Given the description of an element on the screen output the (x, y) to click on. 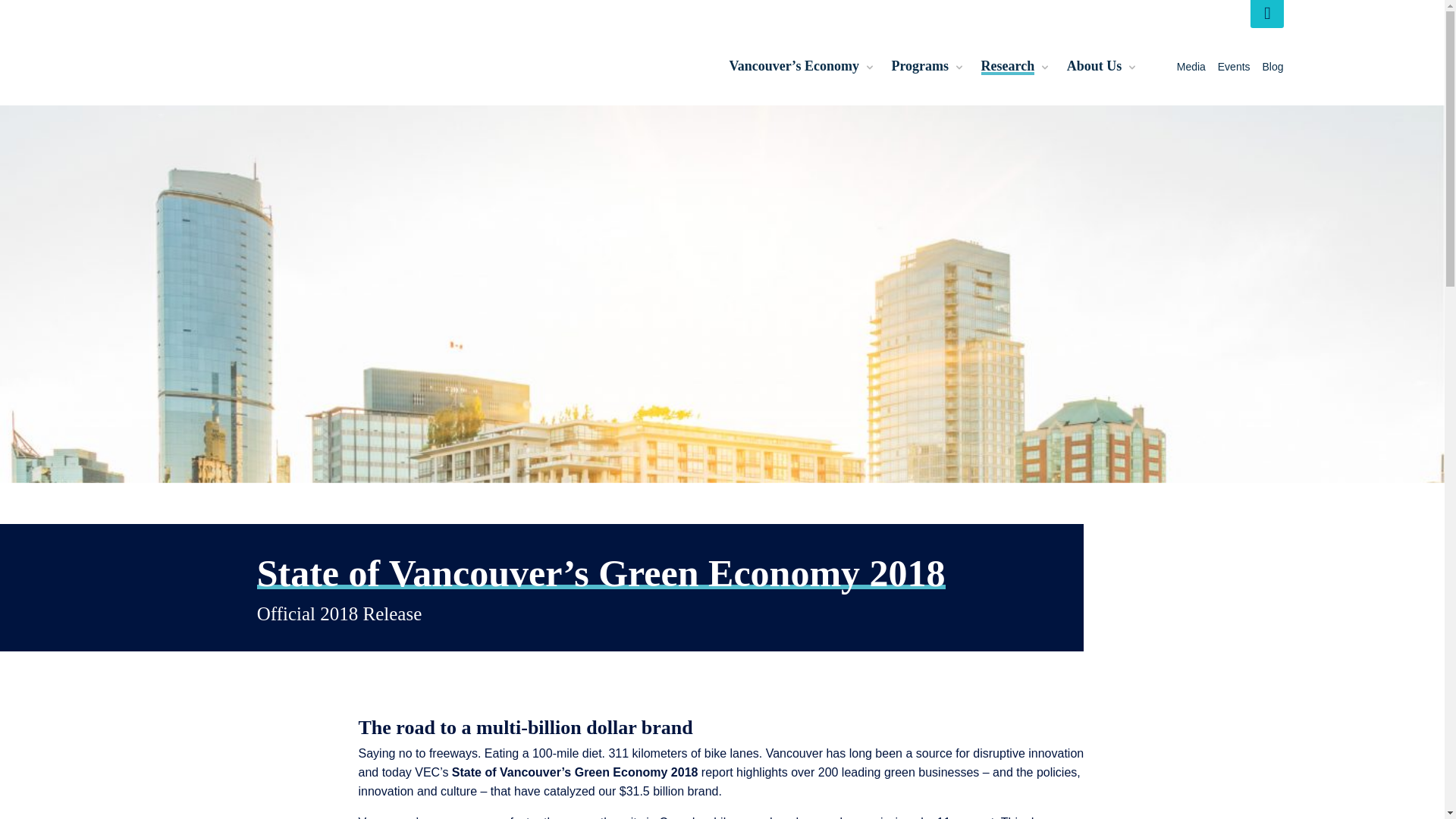
Search (1265, 13)
About Us (1094, 66)
Research (1008, 66)
Programs (920, 66)
